Given the description of an element on the screen output the (x, y) to click on. 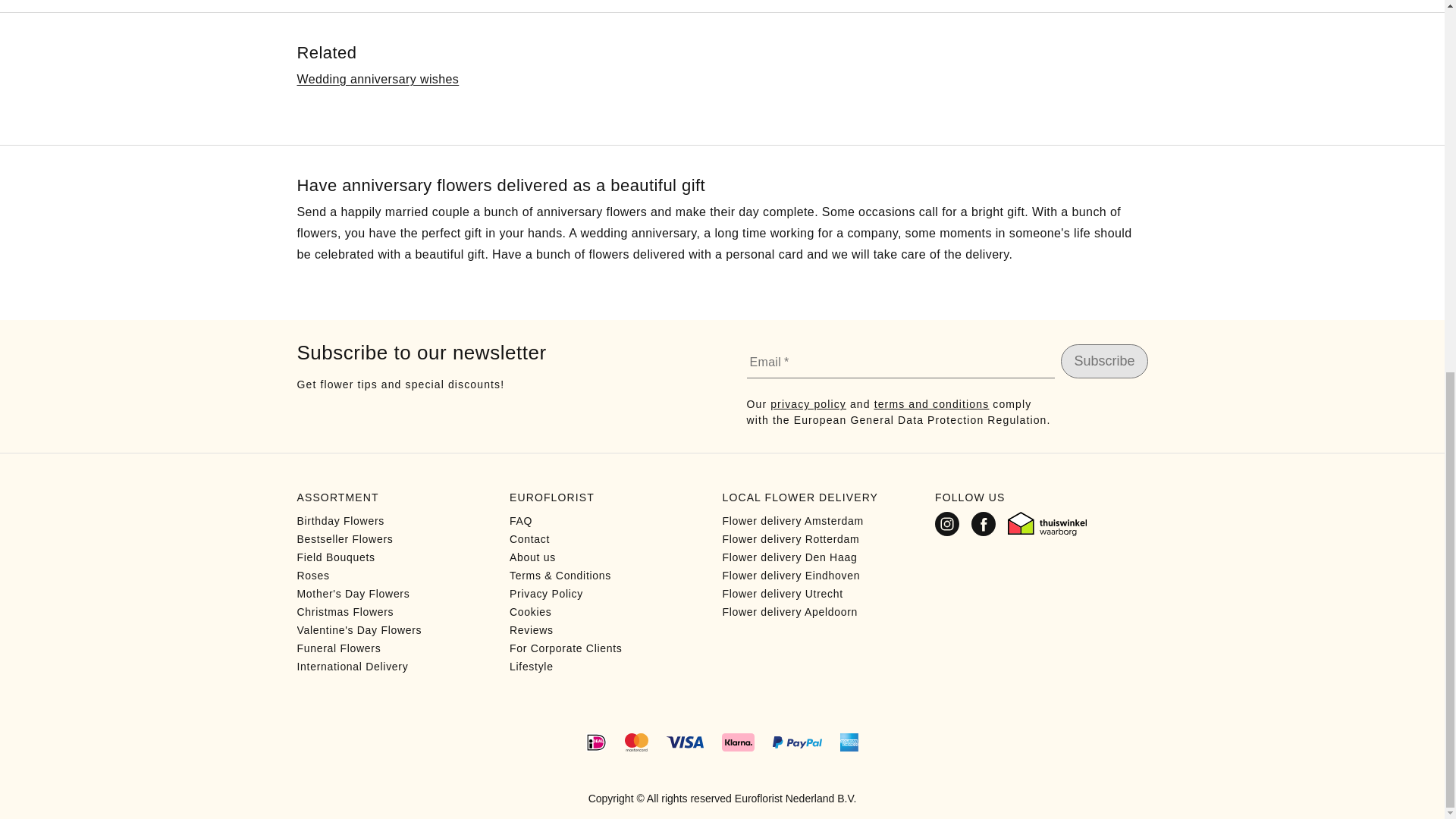
paypal (797, 742)
amex (849, 742)
klarna (738, 742)
mastercard (635, 742)
ideal (596, 742)
visa (684, 742)
